Given the description of an element on the screen output the (x, y) to click on. 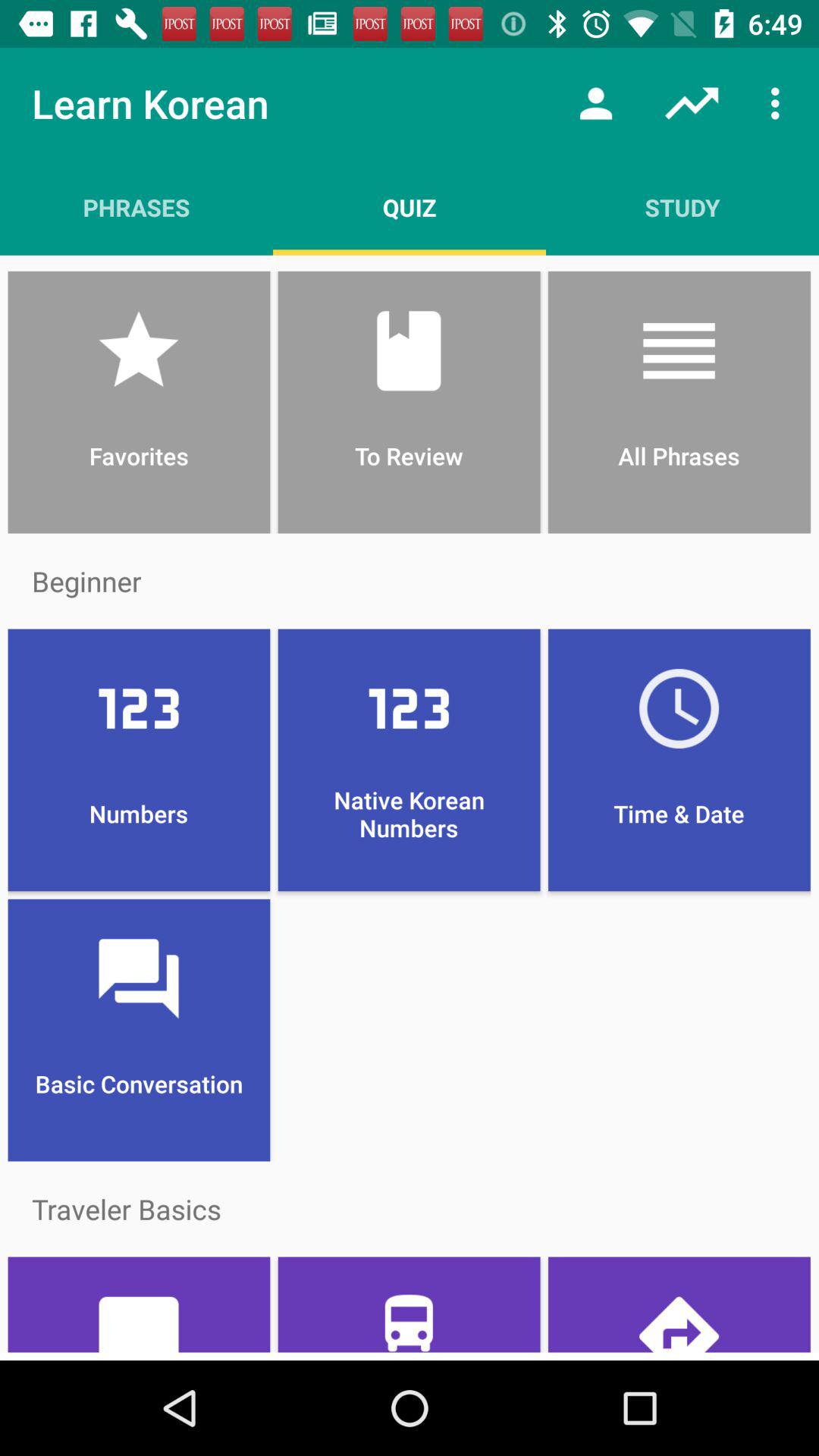
click study icon (682, 207)
